Given the description of an element on the screen output the (x, y) to click on. 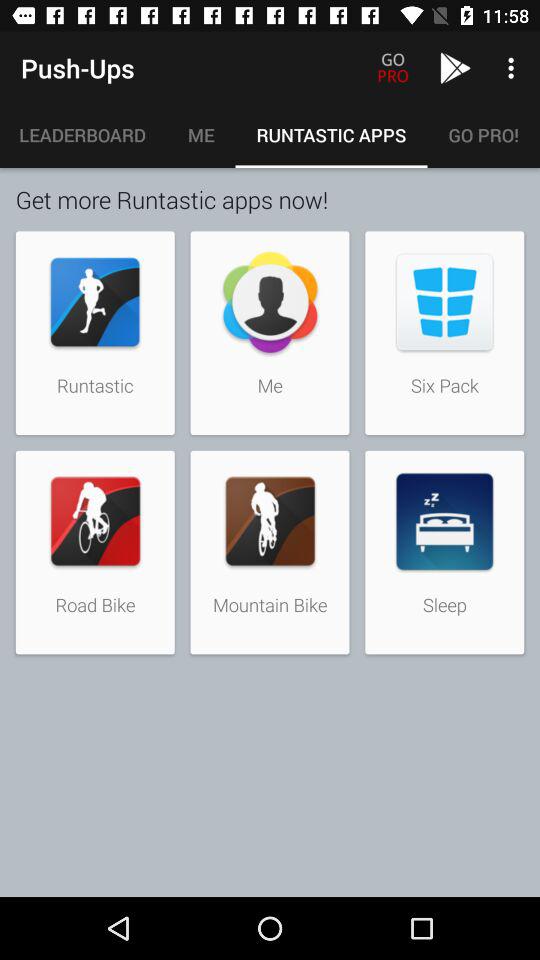
flip until leaderboard icon (83, 135)
